Given the description of an element on the screen output the (x, y) to click on. 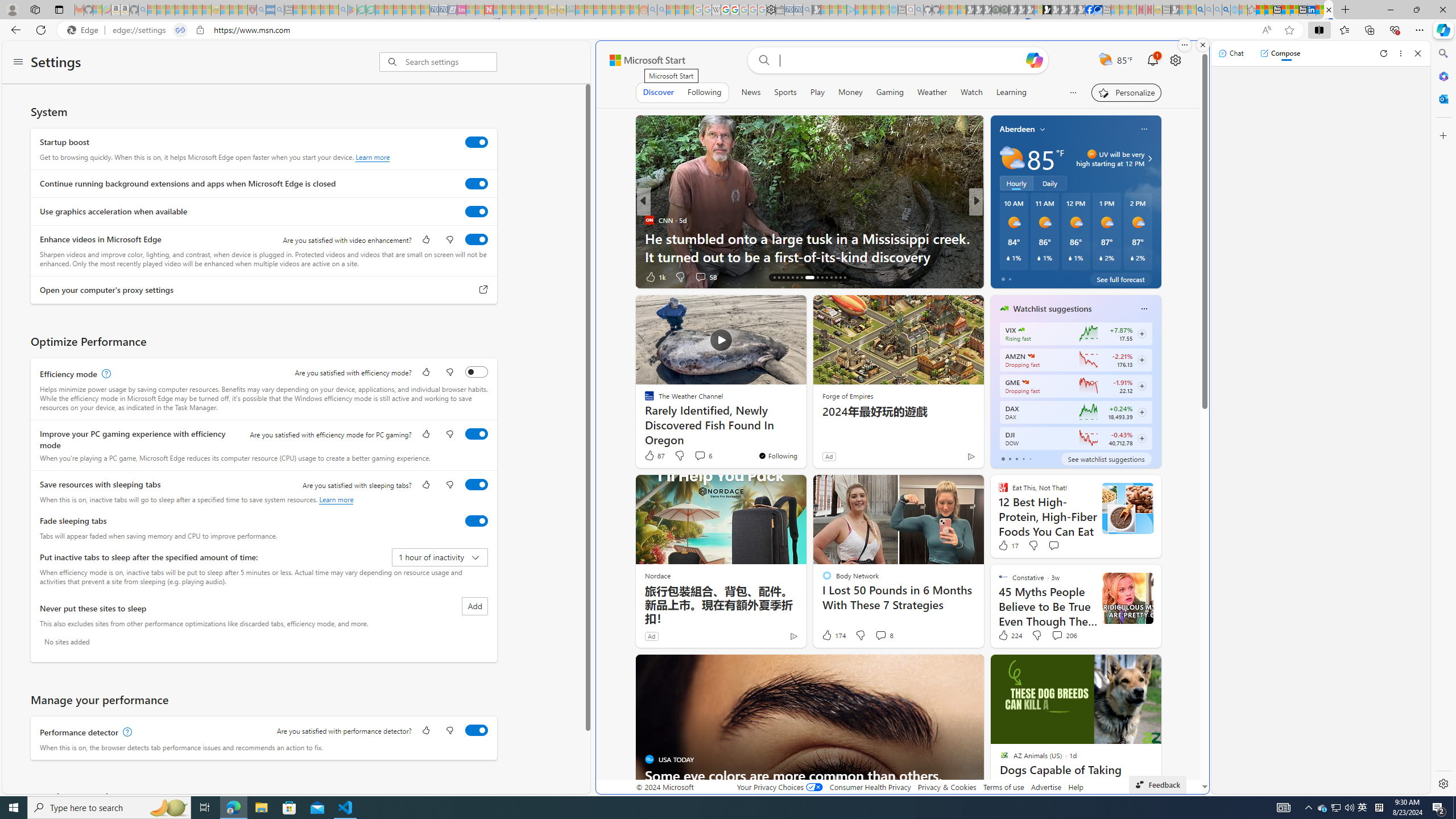
Chat (1230, 52)
Nordace (658, 574)
tab-4 (1029, 458)
AutomationID: tab-18 (783, 277)
View comments 6 Comment (700, 455)
Sports (785, 92)
Money (850, 92)
Edge (84, 29)
